Given the description of an element on the screen output the (x, y) to click on. 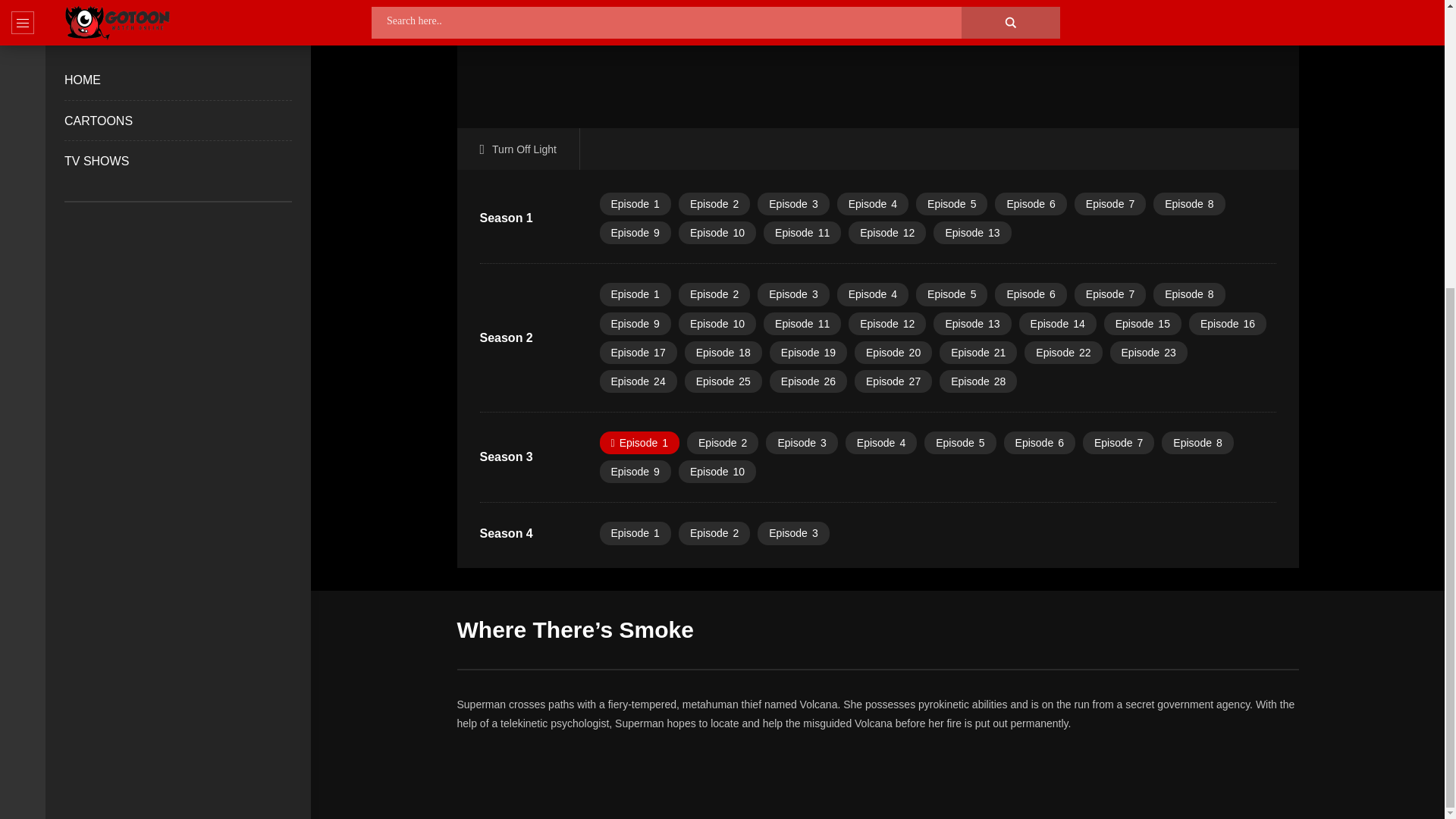
Episode9 (633, 323)
Episode6 (1029, 203)
Episode8 (1188, 293)
The Way of All Flesh (1109, 203)
Episode3 (792, 203)
Episode10 (716, 232)
Episode1 (633, 293)
Episode13 (971, 232)
Episode5 (951, 293)
Episode3 (792, 293)
